Given the description of an element on the screen output the (x, y) to click on. 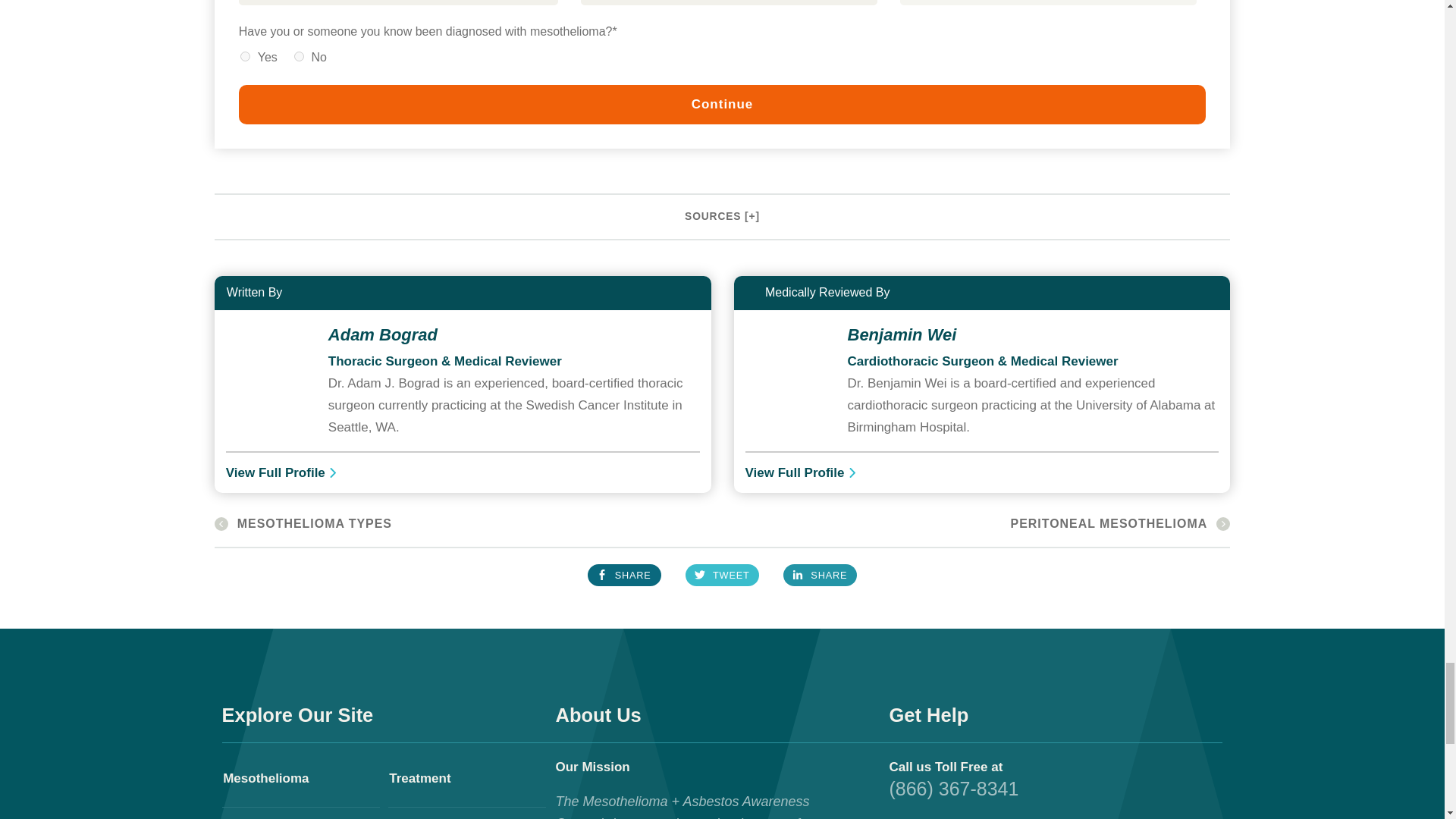
Share this on LinkedIn (820, 575)
No (299, 56)
Yes (245, 56)
Tweet this on Twitter (721, 575)
Enter your zip code. (397, 2)
Enter your city. (728, 2)
Select your state. (1047, 2)
Share this on Facebook (624, 575)
